Given the description of an element on the screen output the (x, y) to click on. 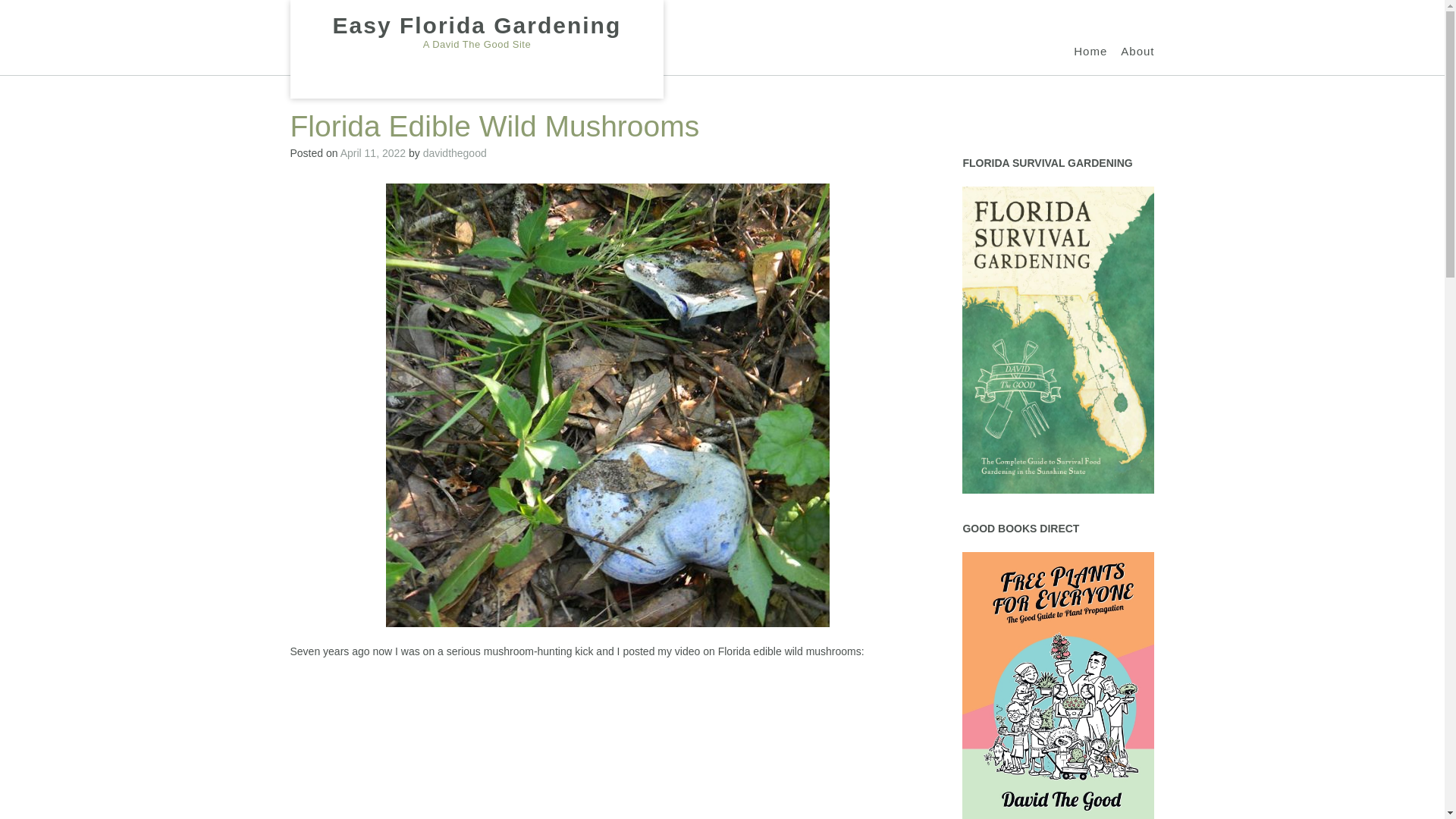
Easy Florida Gardening (476, 25)
About (1137, 51)
Home (1090, 51)
Florida Edible Wild Mushrooms (606, 745)
davidthegood (454, 152)
April 11, 2022 (373, 152)
